Given the description of an element on the screen output the (x, y) to click on. 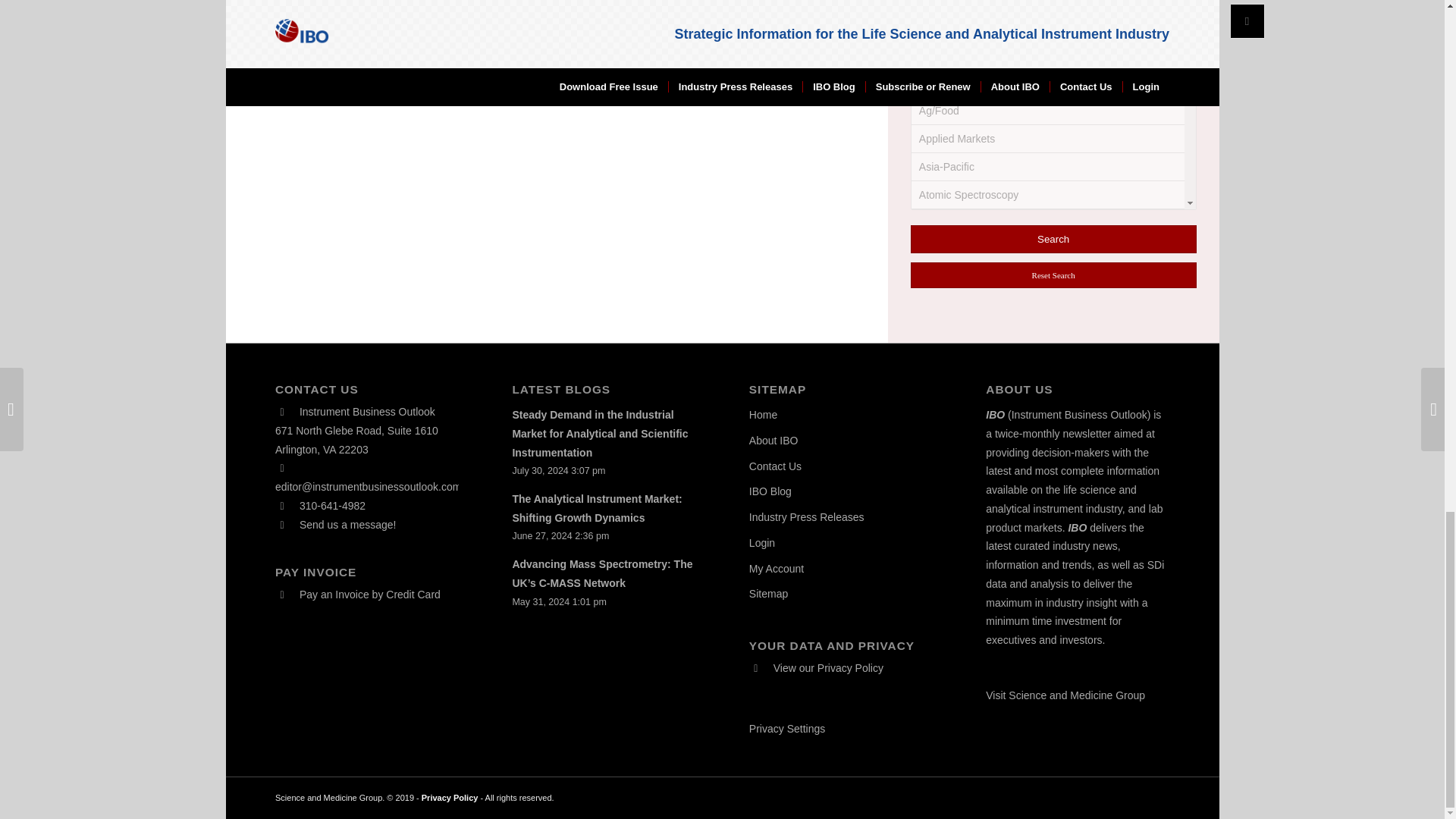
The Analytical Instrument Market: Shifting Growth Dynamics (596, 508)
general-laboratory-productsconsumableslife-sciencegene-based (929, 322)
chromatography-and-mass-spectrometryroutine-ms (929, 29)
general-laboratory-products (938, 126)
general-laboratory-productsconsumables (929, 157)
